Given the description of an element on the screen output the (x, y) to click on. 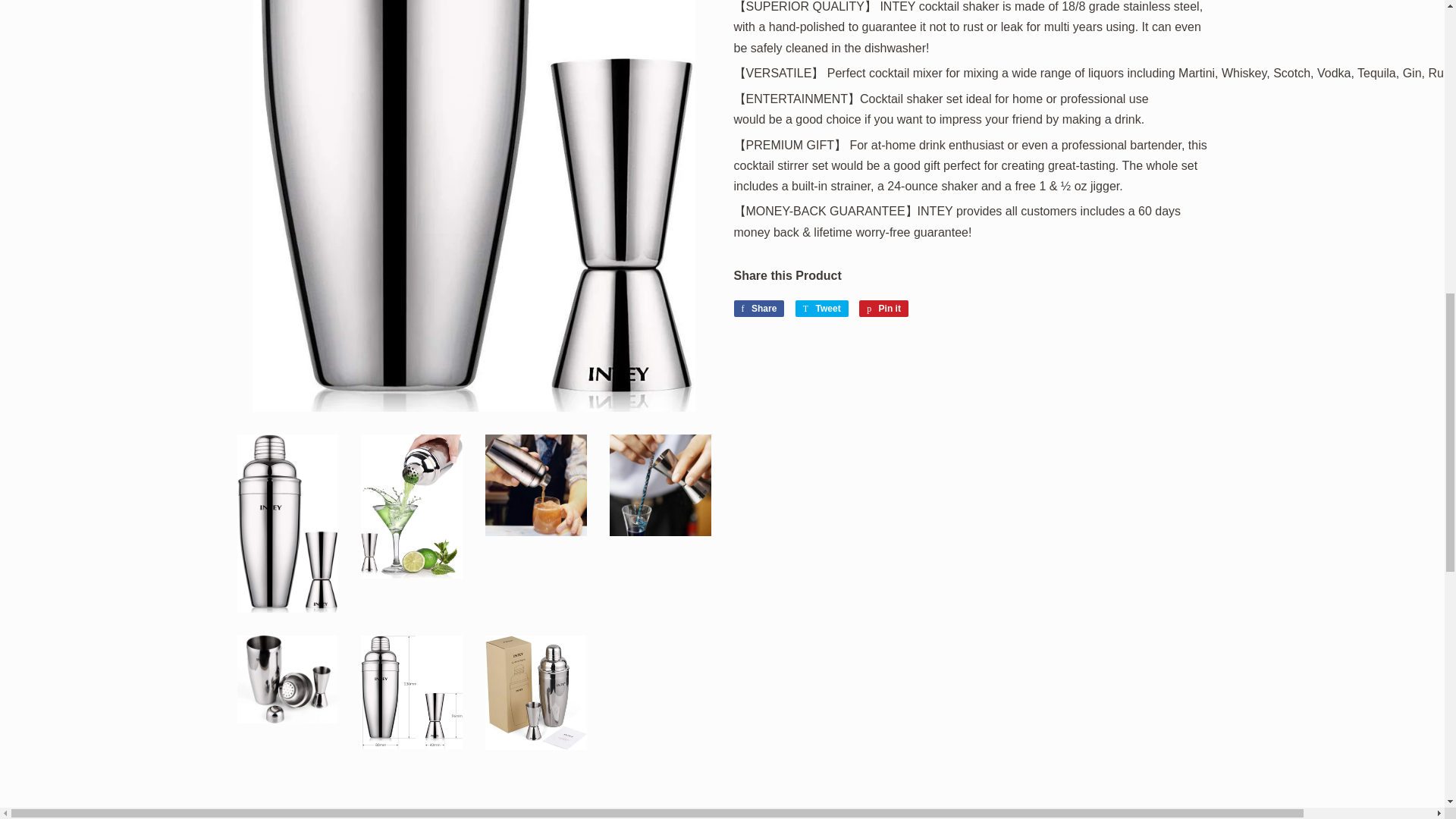
Share on Facebook (758, 308)
Tweet on Twitter (821, 308)
Pin on Pinterest (883, 308)
